Given the description of an element on the screen output the (x, y) to click on. 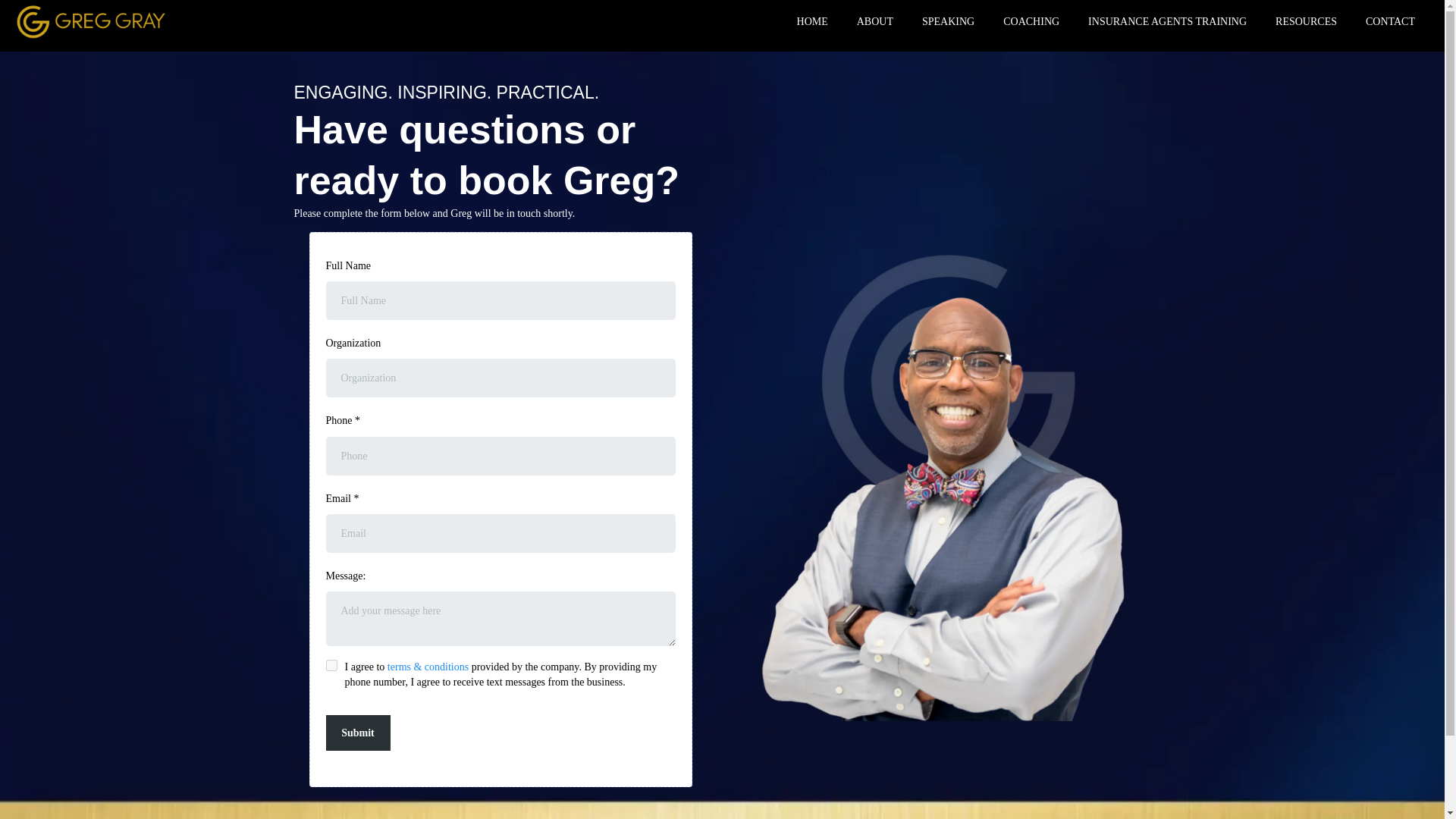
Submit (358, 732)
INSURANCE AGENTS TRAINING (1167, 22)
RESOURCES (1305, 22)
ABOUT (875, 22)
COACHING (1031, 22)
CONTACT (1390, 22)
HOME (813, 22)
SPEAKING (947, 22)
